Given the description of an element on the screen output the (x, y) to click on. 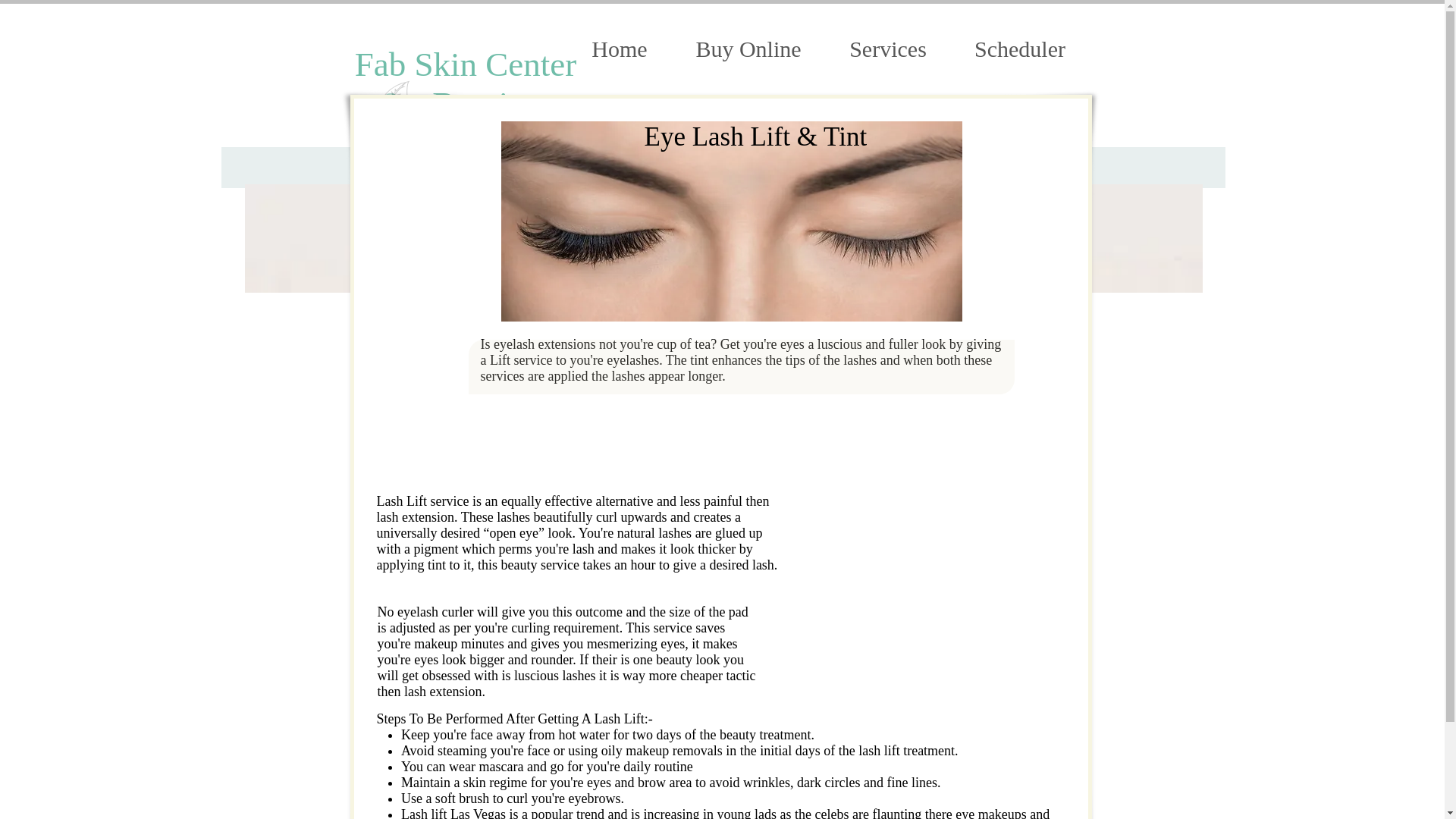
Services (887, 48)
Home (619, 48)
Buy Online (748, 48)
Scheduler (1019, 48)
